Given the description of an element on the screen output the (x, y) to click on. 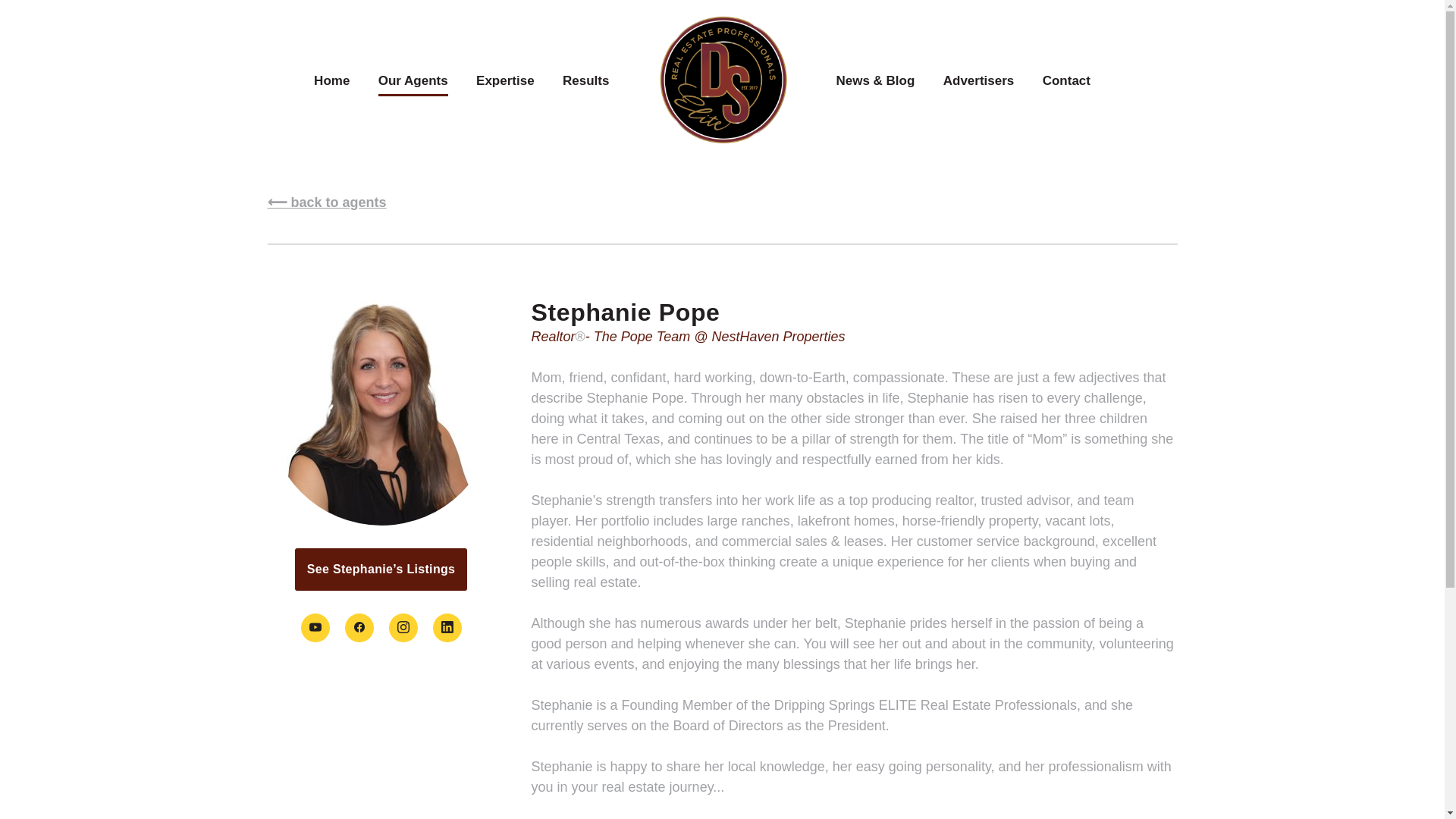
Expertise (505, 80)
Results (585, 80)
Advertisers (978, 80)
Contact (1066, 80)
Dripping Springs Elite (722, 80)
Our Agents (413, 80)
Home (331, 80)
